Given the description of an element on the screen output the (x, y) to click on. 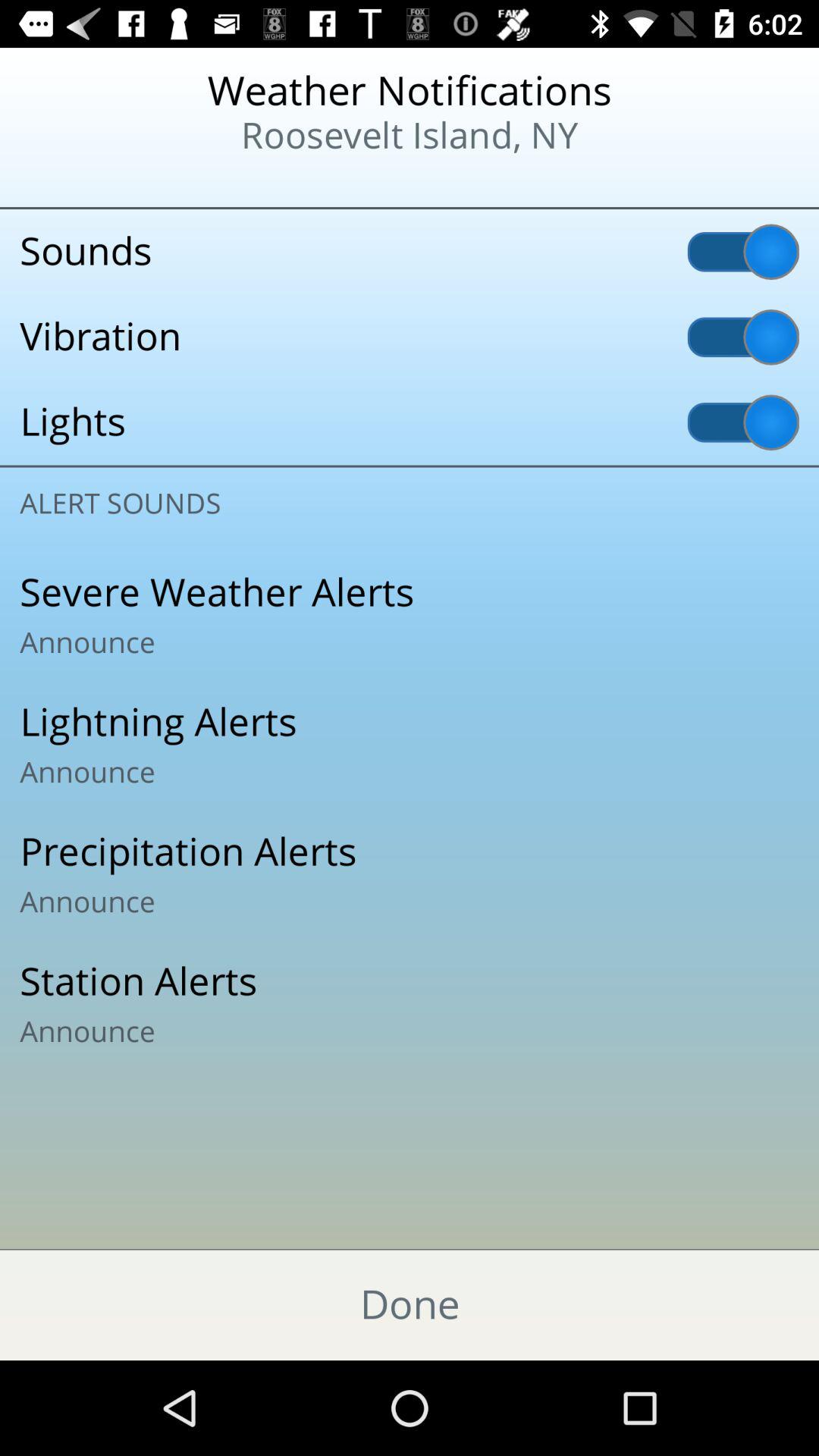
choose the lights icon (409, 422)
